Given the description of an element on the screen output the (x, y) to click on. 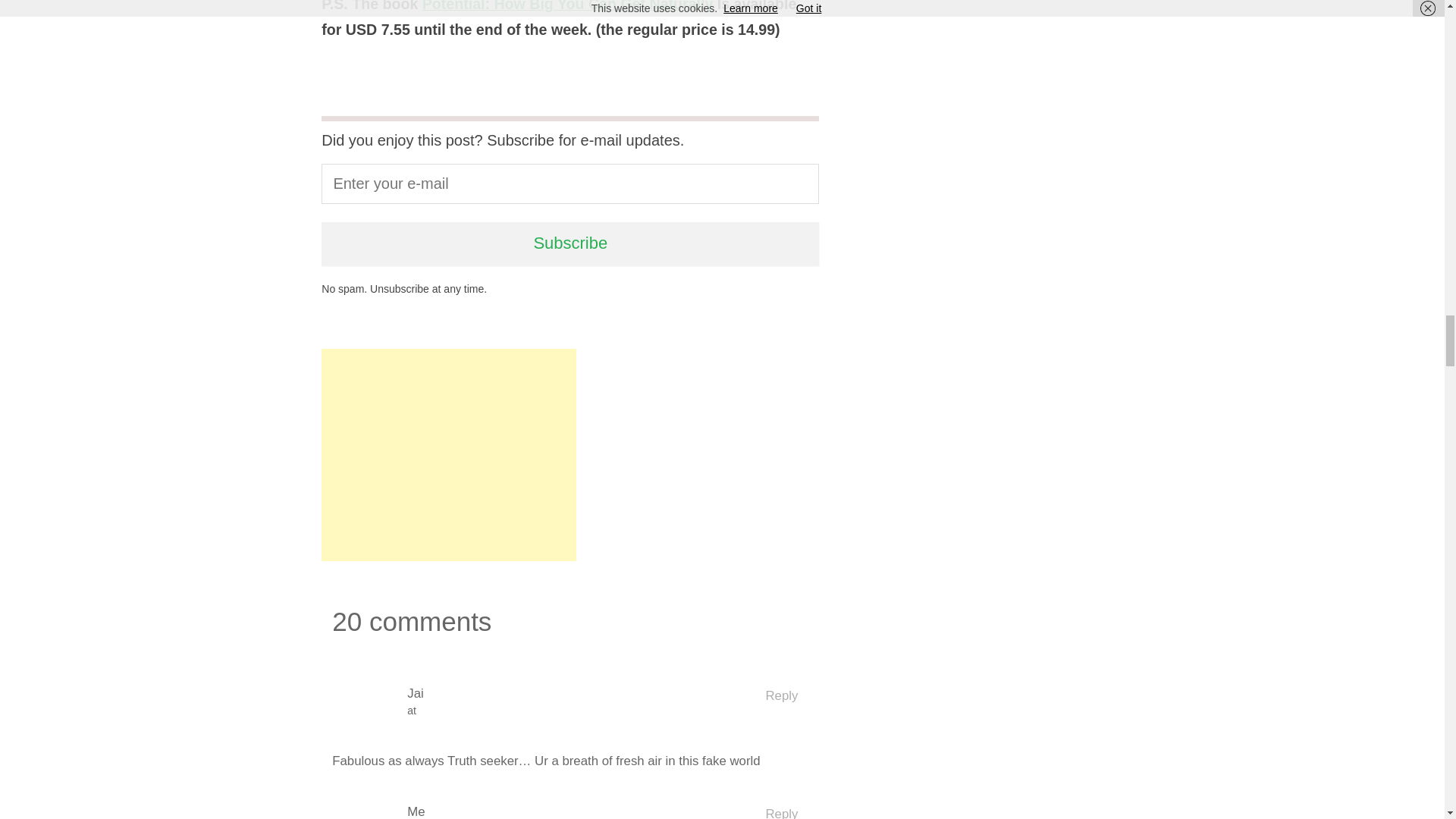
Reply (781, 810)
Potential: How Big You Can Get Naturally (567, 6)
Reply (781, 695)
Subscribe (569, 243)
at (575, 710)
Subscribe (569, 243)
